Given the description of an element on the screen output the (x, y) to click on. 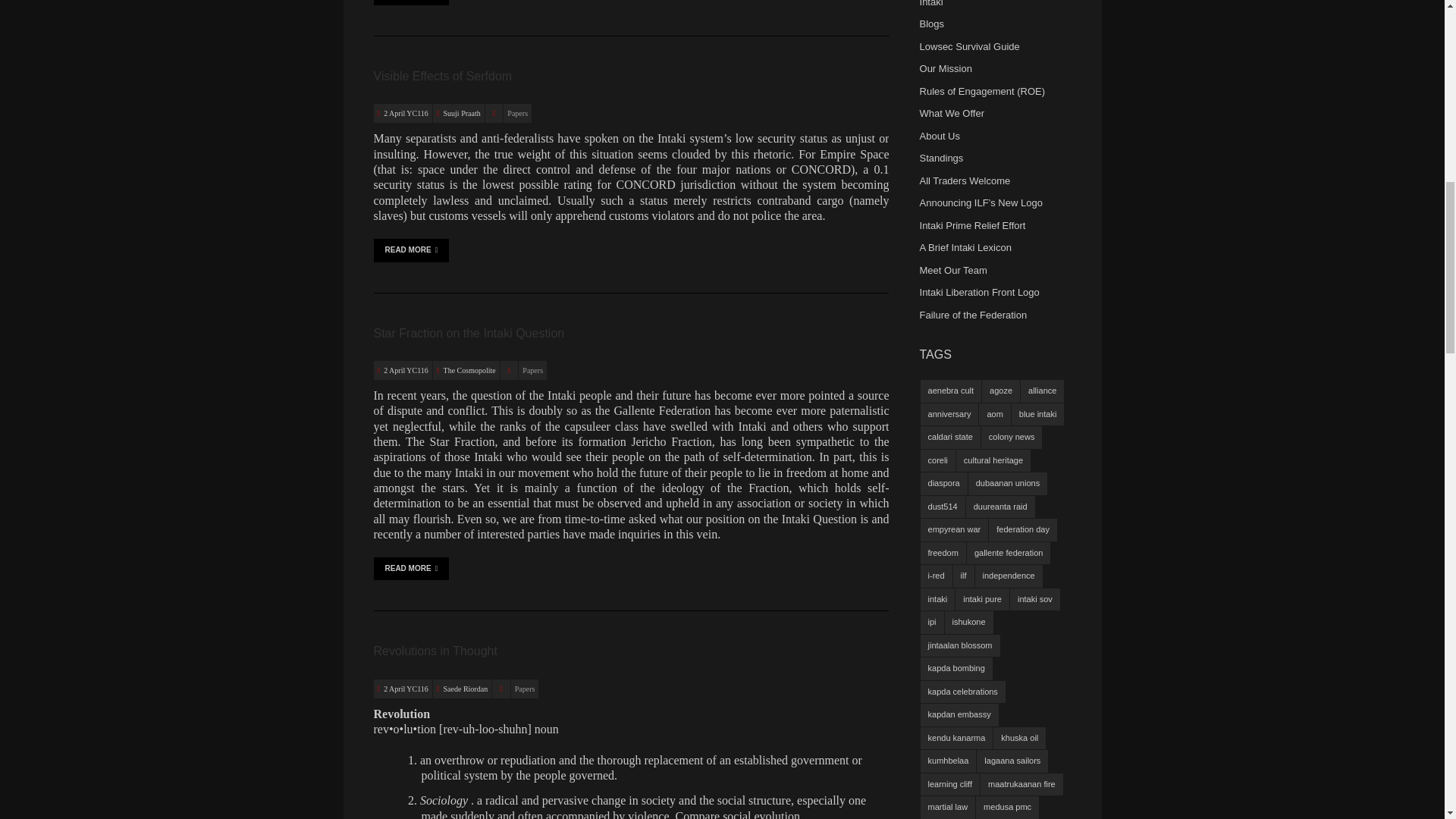
Revolutions in Thought (434, 650)
Category (501, 688)
Revolutions in Thought (406, 688)
Star Fraction on the Intaki Question (468, 332)
Star Fraction on the Intaki Question (406, 370)
Category (509, 370)
Visible Effects of Serfdom (442, 75)
Visible Effects of Serfdom (406, 112)
Category (493, 113)
